Given the description of an element on the screen output the (x, y) to click on. 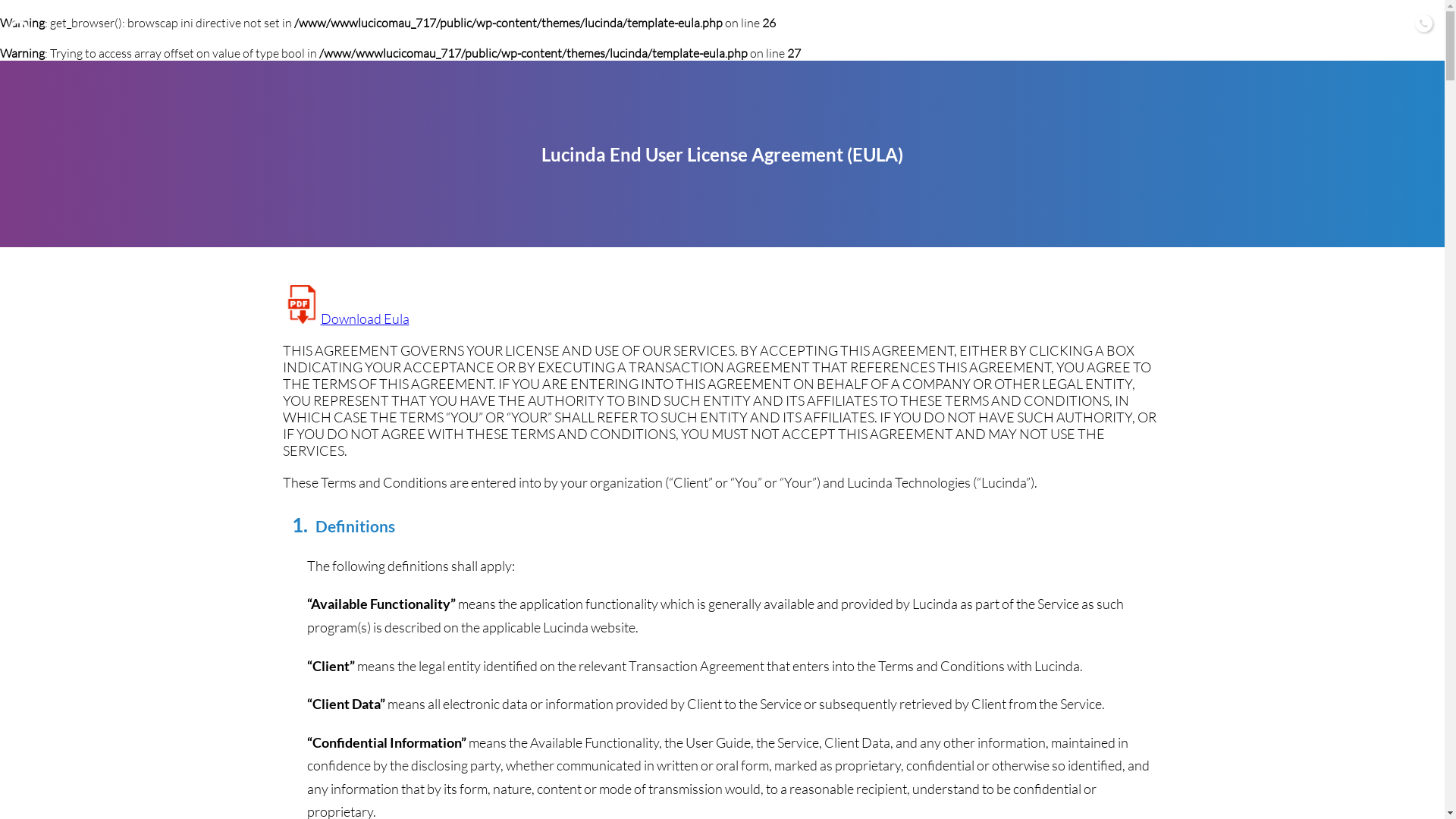
Download Eula Element type: text (345, 318)
